Given the description of an element on the screen output the (x, y) to click on. 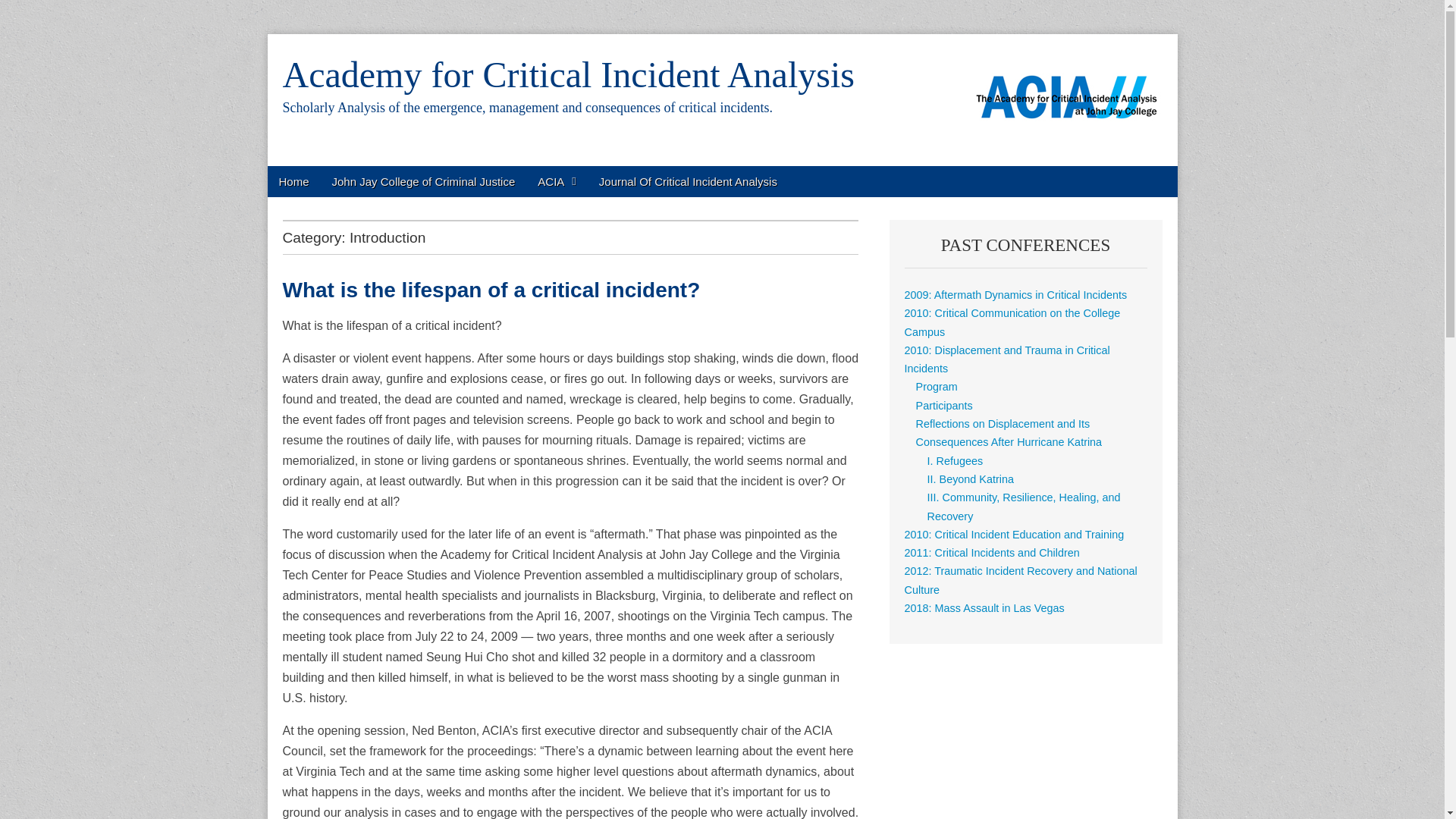
Participants (943, 405)
What is the lifespan of a critical incident? (491, 290)
2010: Critical Incident Education and Training (1014, 534)
Academy for Critical Incident Analysis (567, 74)
2011: Critical Incidents and Children (992, 552)
ACIA (556, 181)
II. Beyond Katrina (970, 479)
2018: Mass Assault in Las Vegas (984, 607)
